Given the description of an element on the screen output the (x, y) to click on. 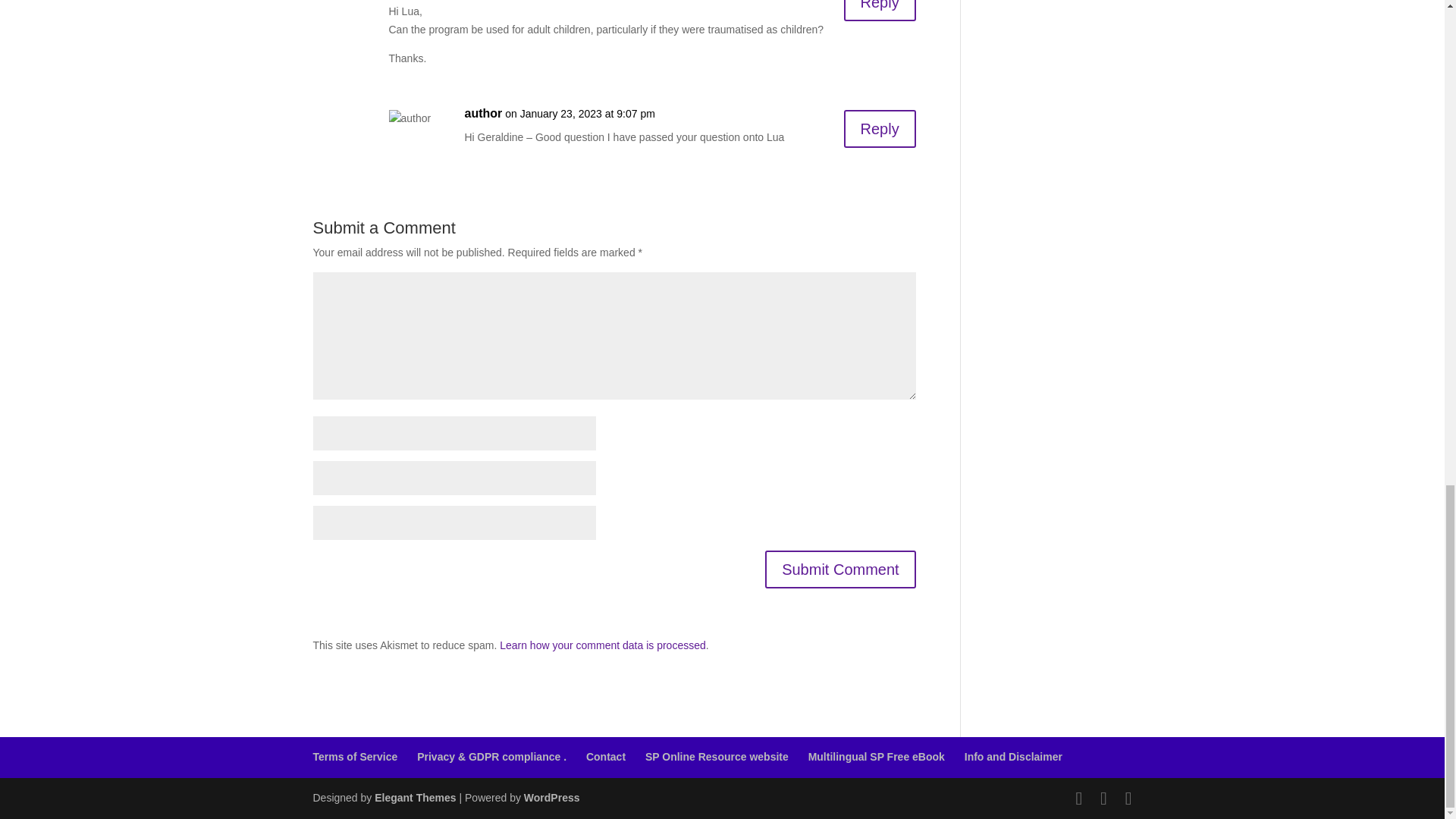
Submit Comment (840, 569)
Premium WordPress Themes (414, 797)
Reply (879, 10)
Learn how your comment data is processed (602, 645)
Submit Comment (840, 569)
Reply (879, 128)
